Given the description of an element on the screen output the (x, y) to click on. 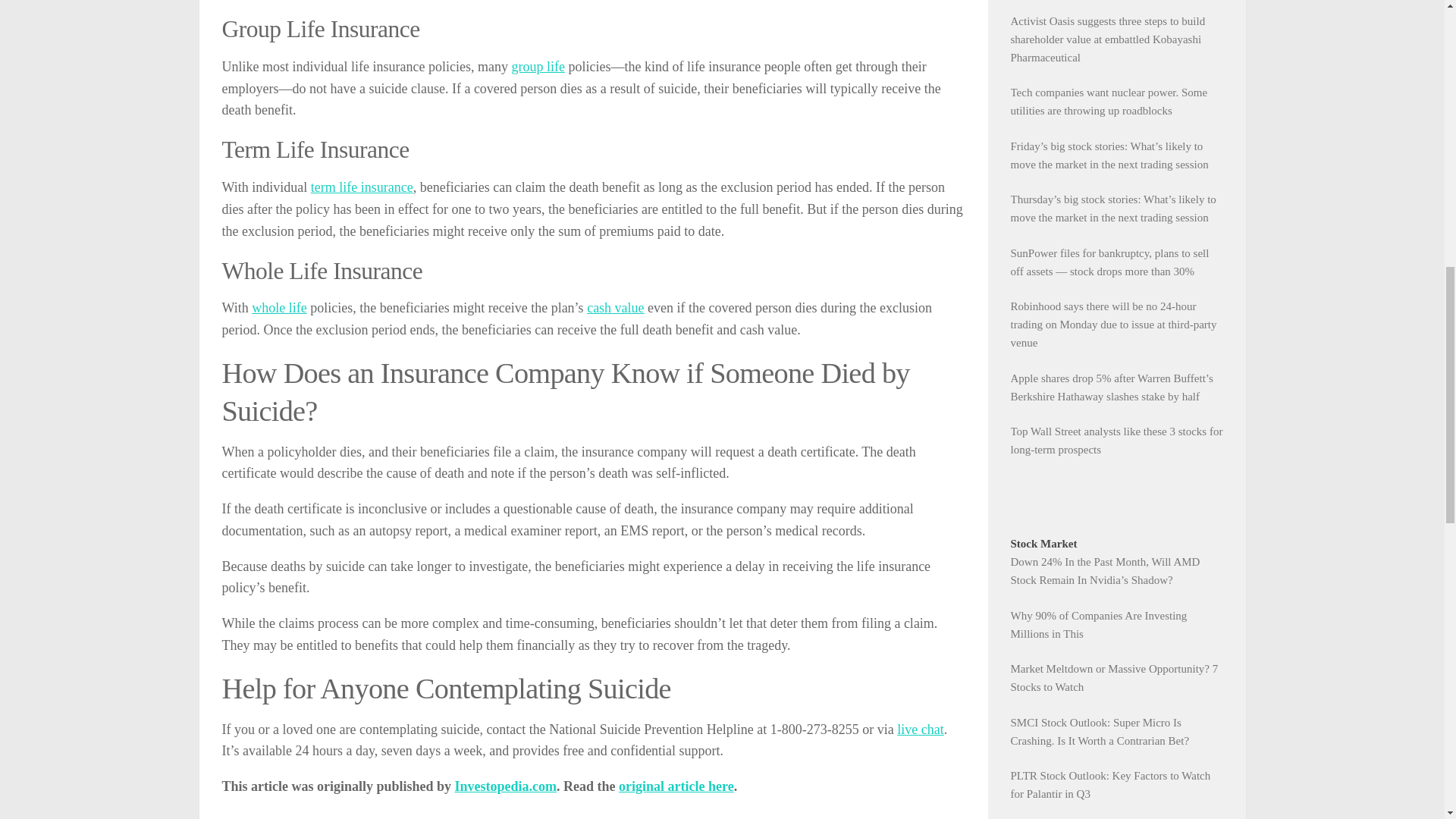
term life insurance (362, 186)
Investopedia.com (505, 785)
live chat (919, 729)
whole life (278, 307)
cash value (614, 307)
group life (537, 66)
